Given the description of an element on the screen output the (x, y) to click on. 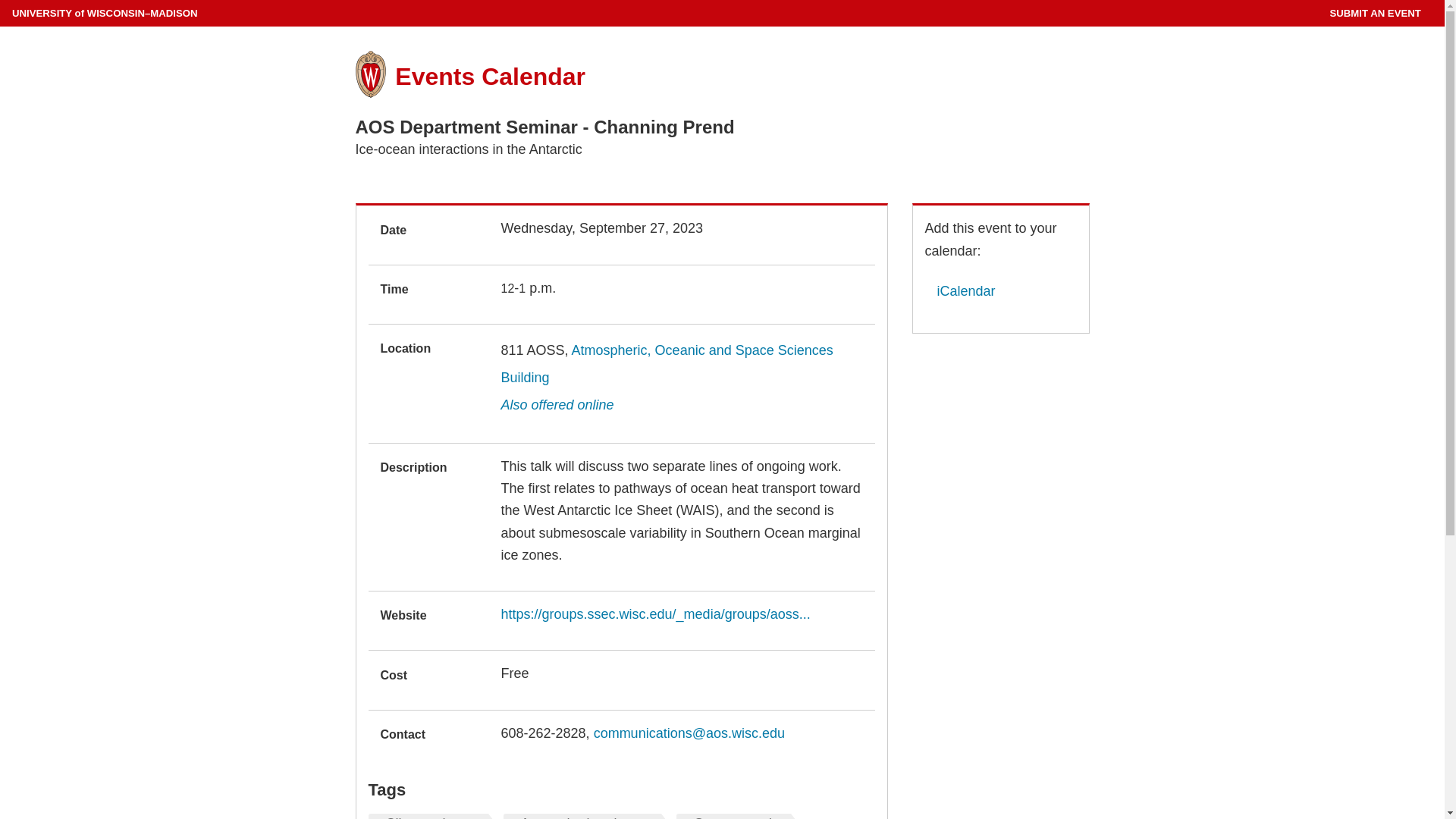
Events Calendar (489, 76)
Climate change (432, 816)
Also offered online (556, 404)
iCalendar (959, 290)
Atmospheric sciences (585, 816)
SUBMIT AN EVENT (1375, 13)
Skip to main content (3, 3)
608-262-2828 (542, 733)
Atmospheric, Oceanic and Space Sciences Building (666, 363)
Oceanography (737, 816)
